Given the description of an element on the screen output the (x, y) to click on. 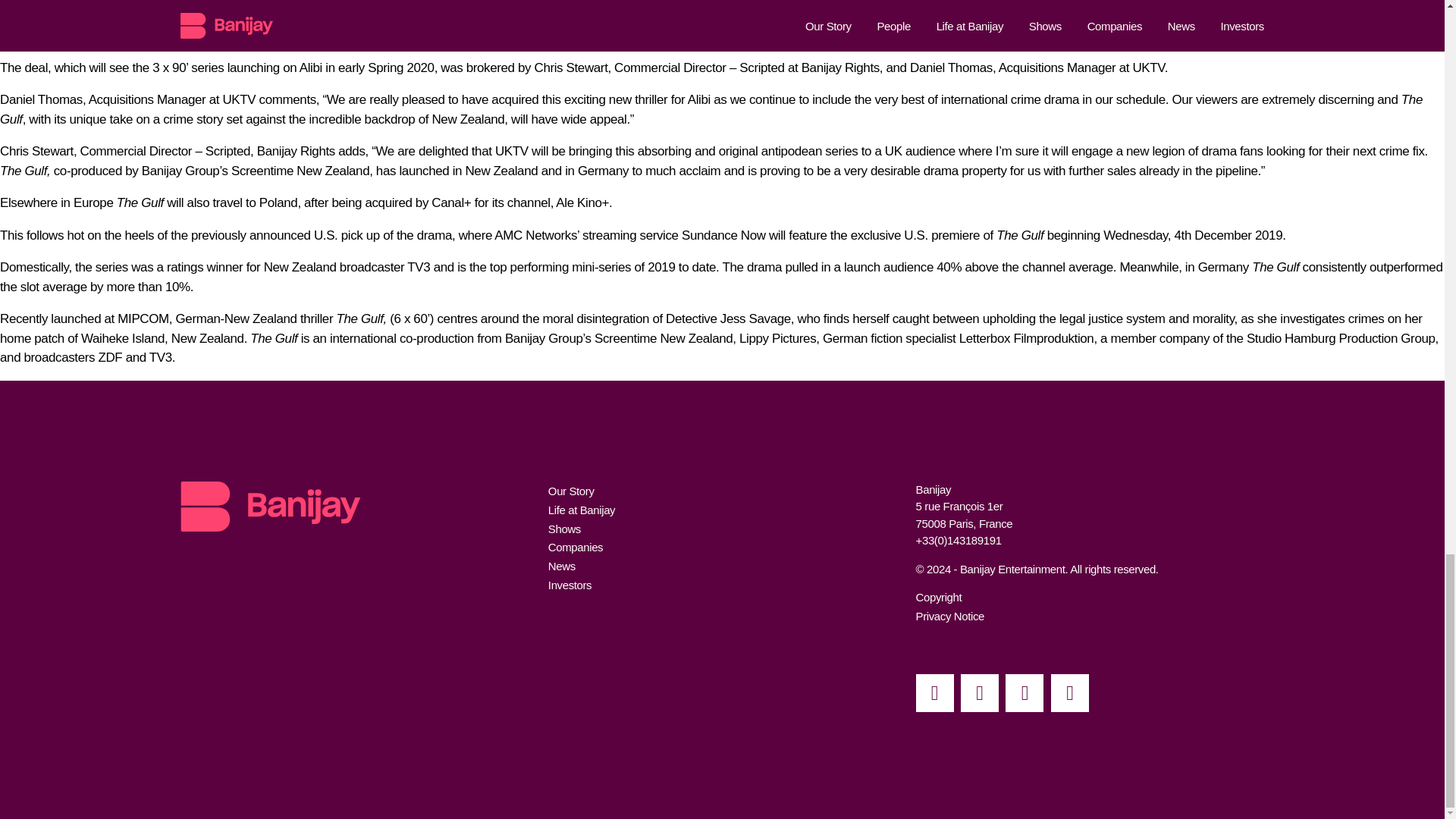
Investors (569, 584)
Shows (564, 528)
Companies (575, 546)
Life at Banijay (581, 509)
Our Story (571, 490)
News (561, 565)
